Given the description of an element on the screen output the (x, y) to click on. 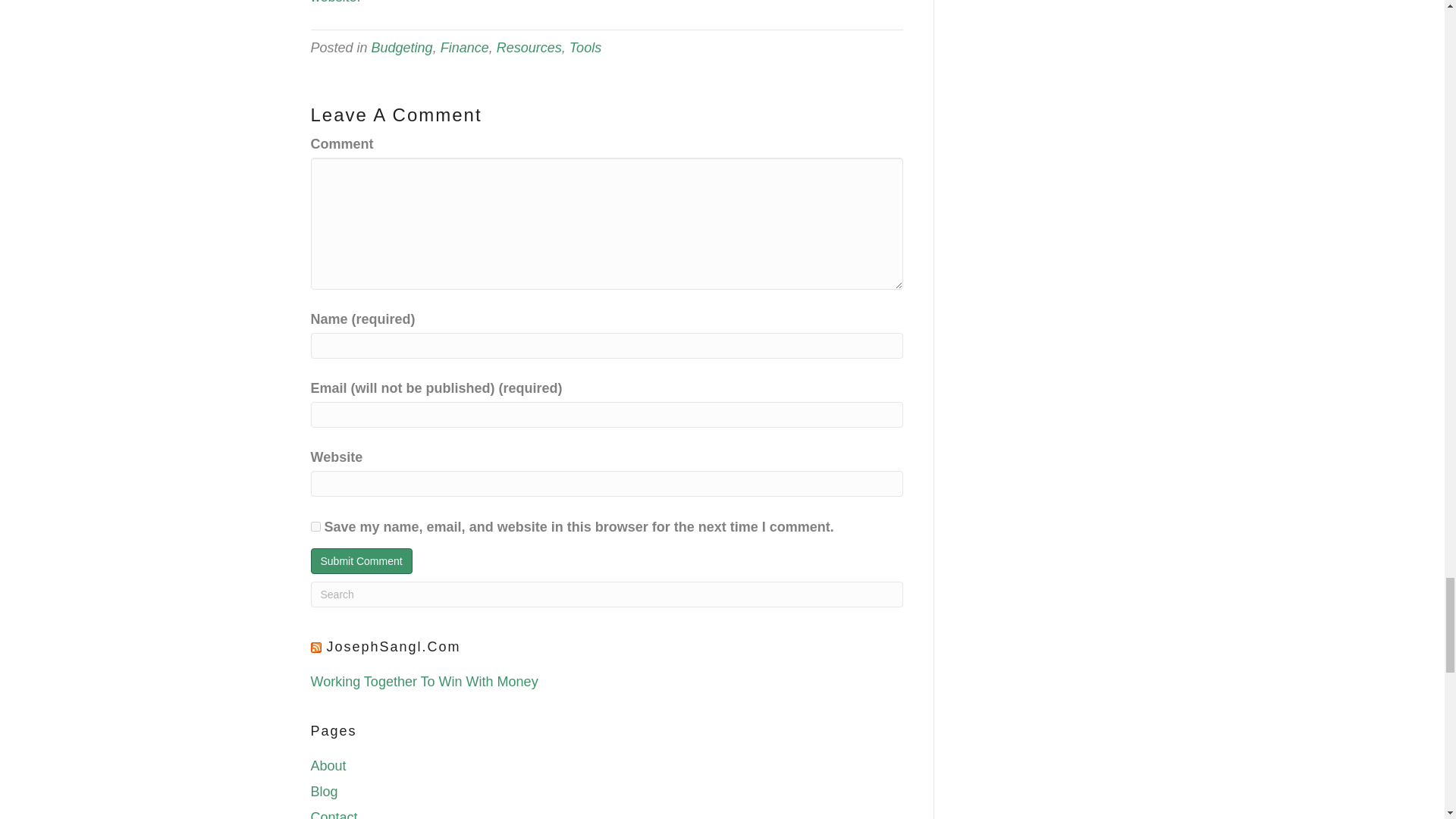
Submit Comment (361, 560)
Search (606, 594)
yes (315, 526)
Search (606, 594)
